Given the description of an element on the screen output the (x, y) to click on. 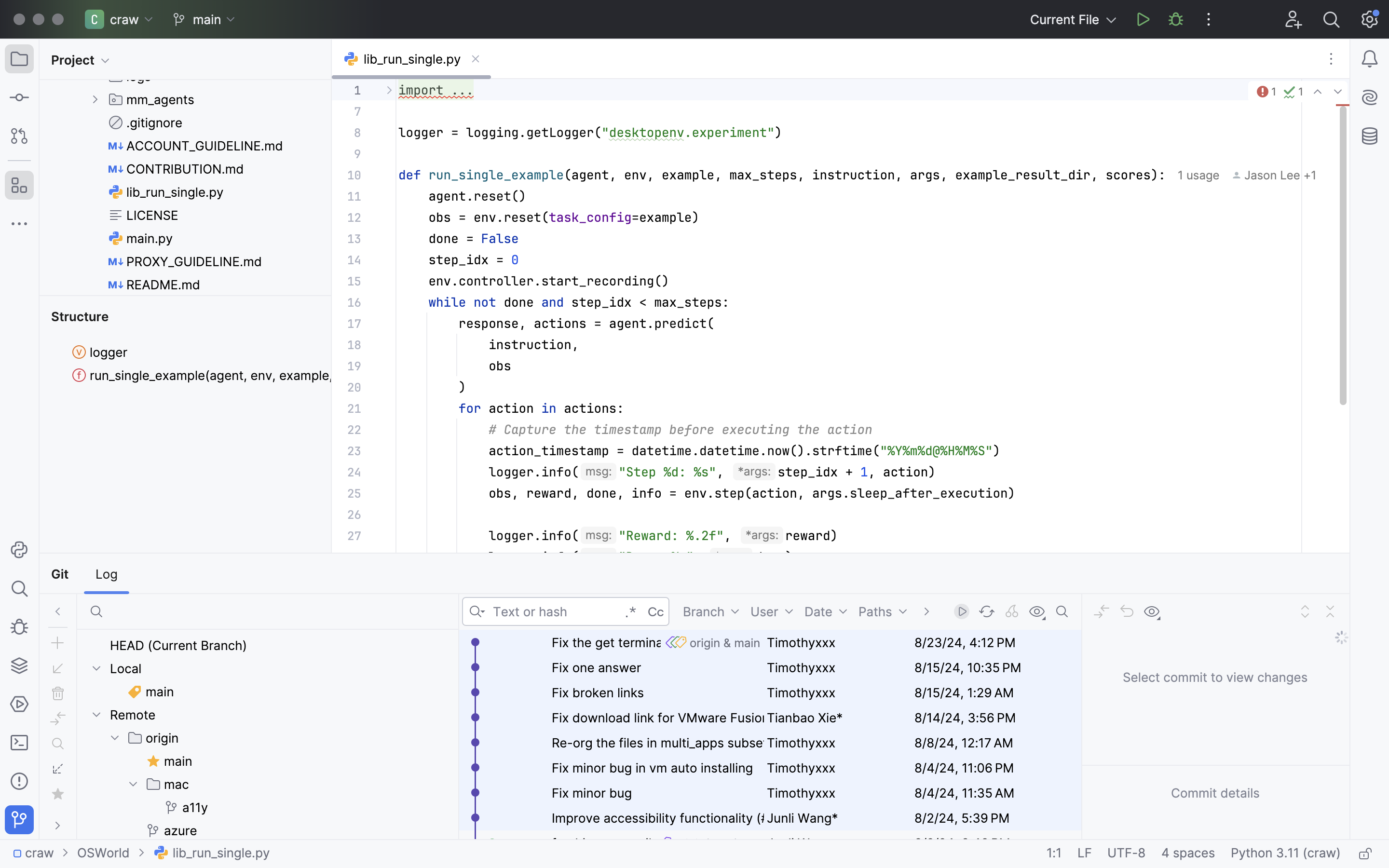
Make file read-only Element type: AXStaticText (1363, 854)
Server-Side Analysis Element type: AXStaticText (385, 573)
Project Errors Element type: AXStaticText (241, 573)
craw – lib_run_single.py Element type: AXStaticText (694, 12)
